Given the description of an element on the screen output the (x, y) to click on. 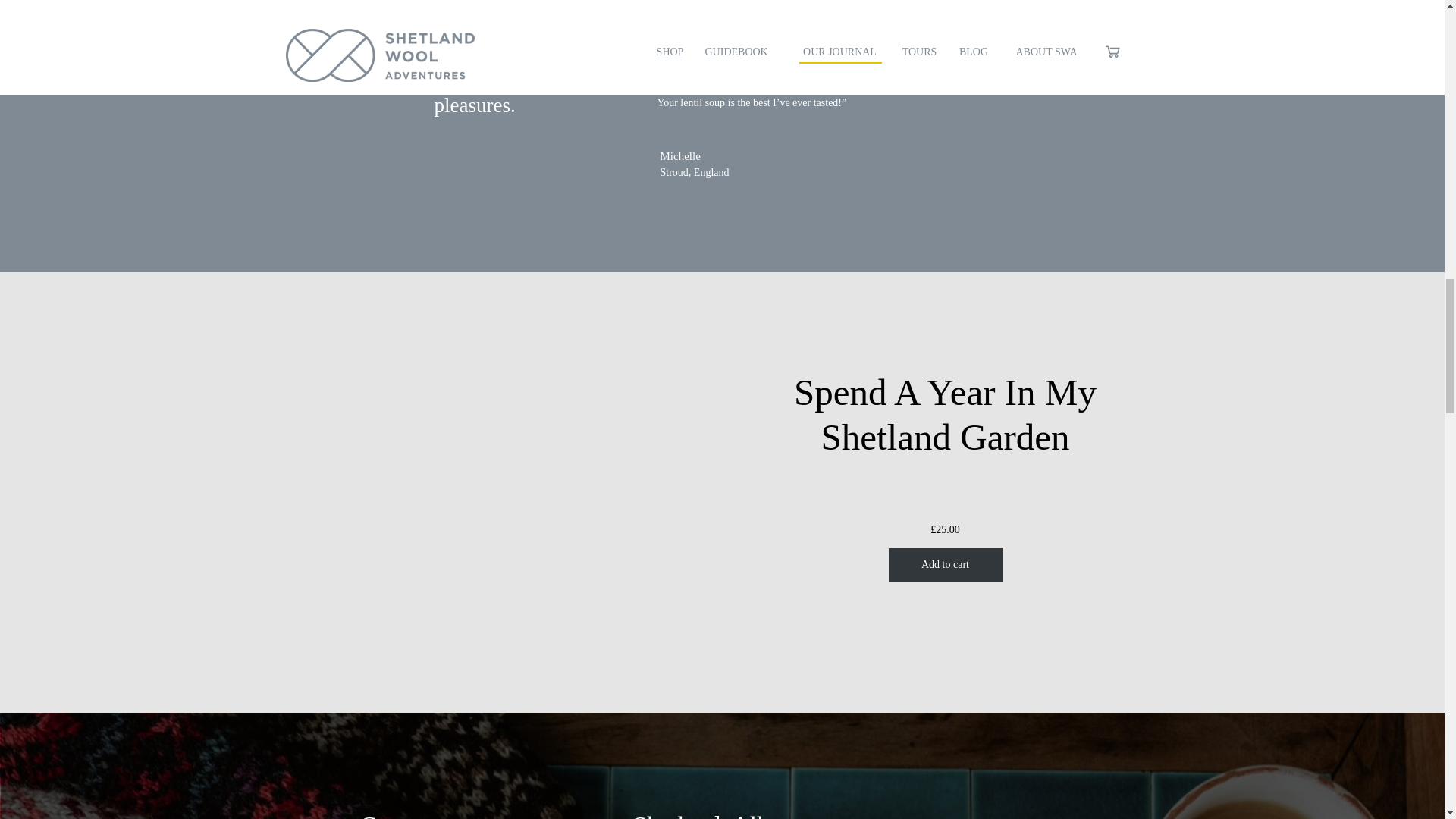
Add to cart (945, 564)
